Given the description of an element on the screen output the (x, y) to click on. 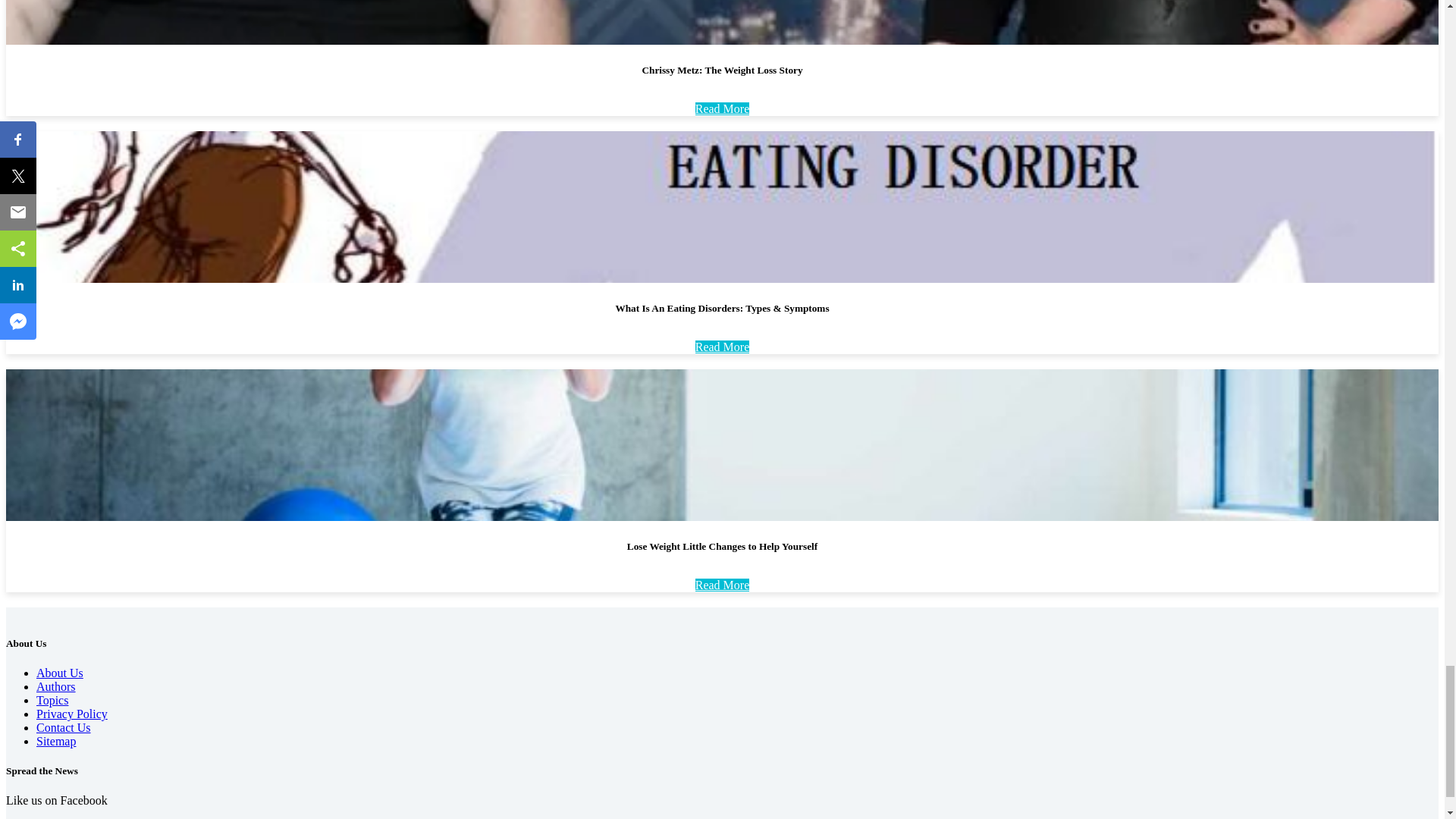
Read More (722, 108)
